Given the description of an element on the screen output the (x, y) to click on. 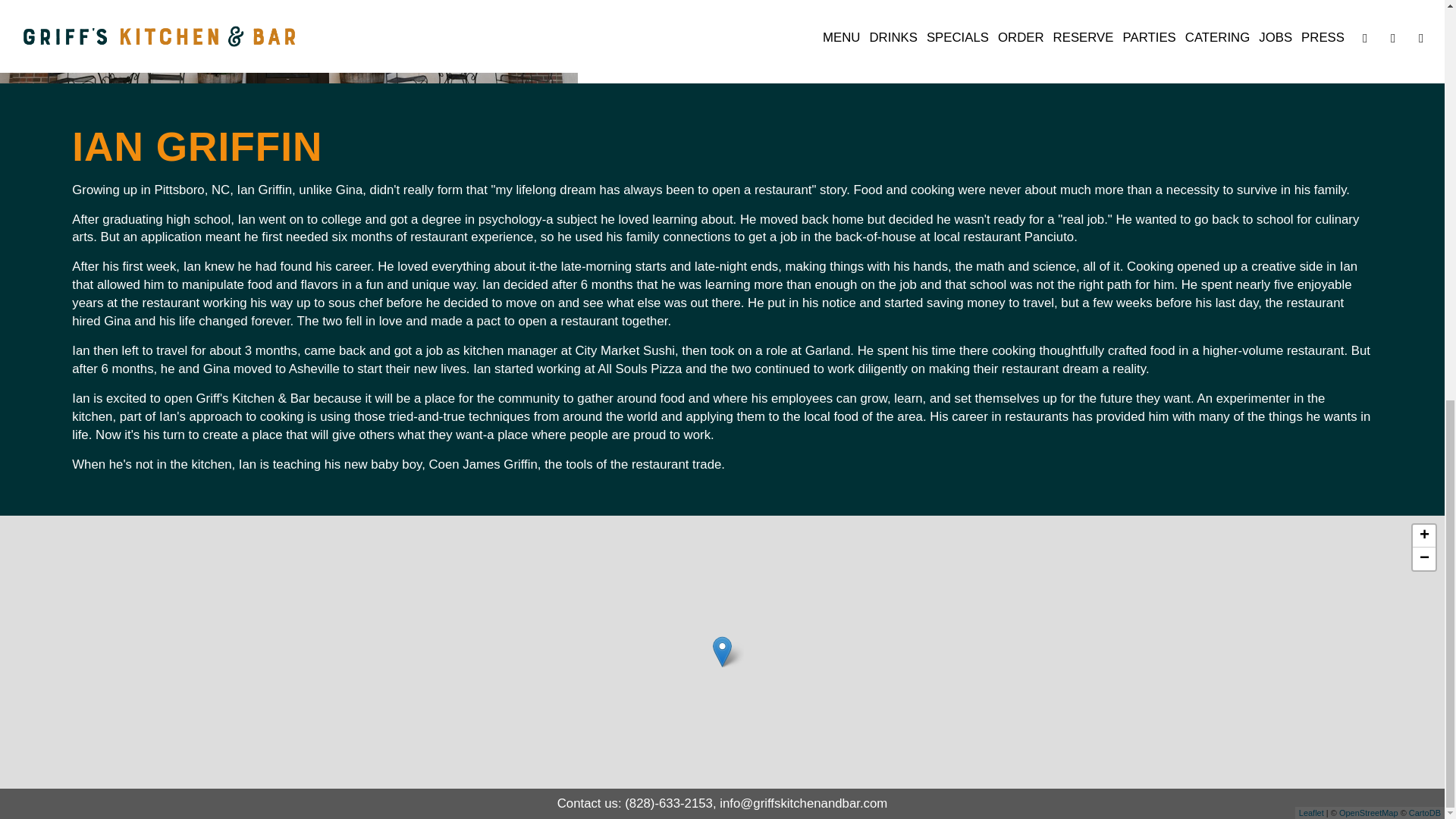
CartoDB (1425, 812)
OpenStreetMap (1368, 812)
Leaflet (1310, 812)
A JS library for interactive maps (1310, 812)
Zoom out (1423, 558)
Zoom in (1423, 535)
